Given the description of an element on the screen output the (x, y) to click on. 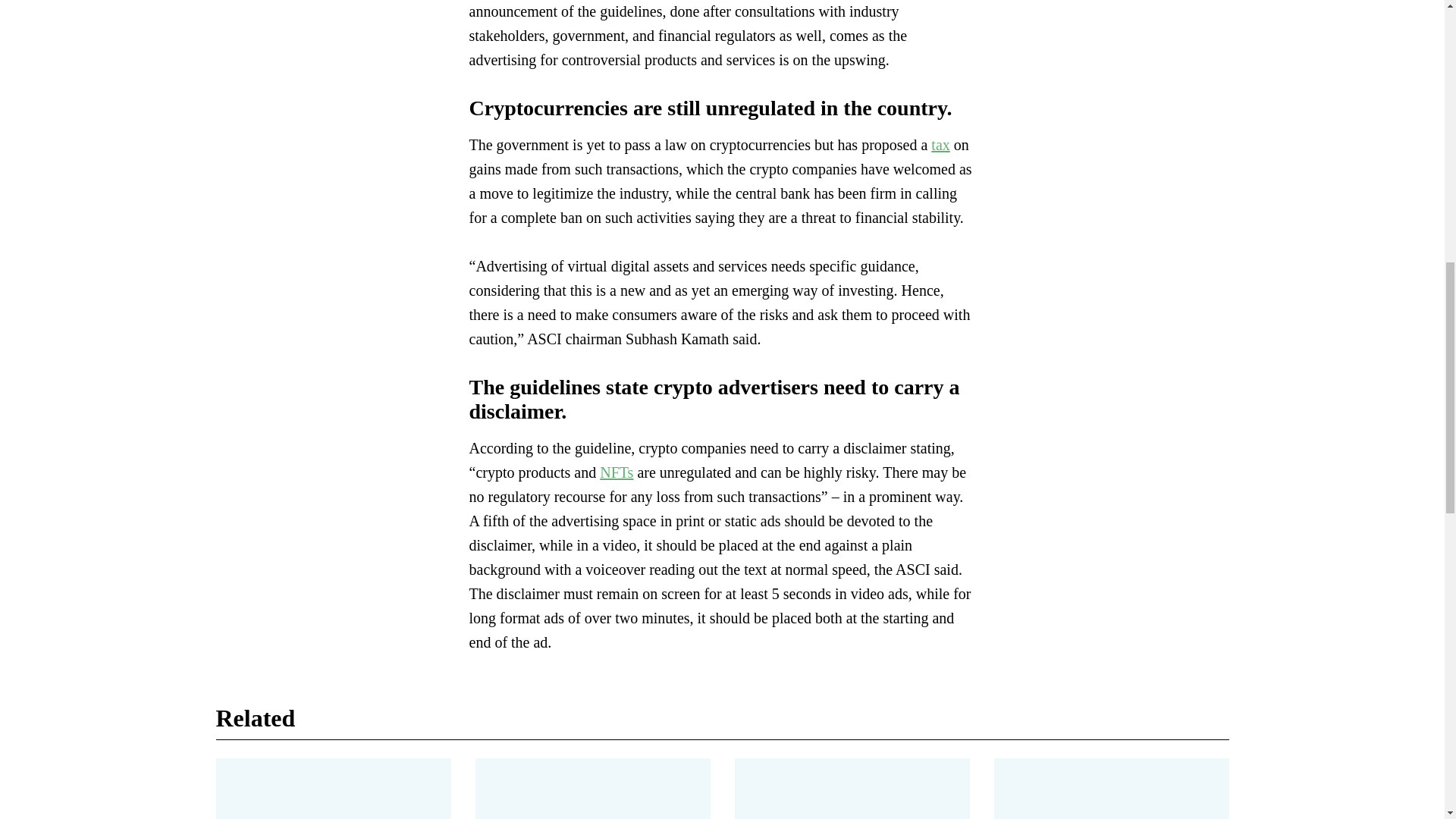
tax (940, 144)
NFTs (616, 472)
